Given the description of an element on the screen output the (x, y) to click on. 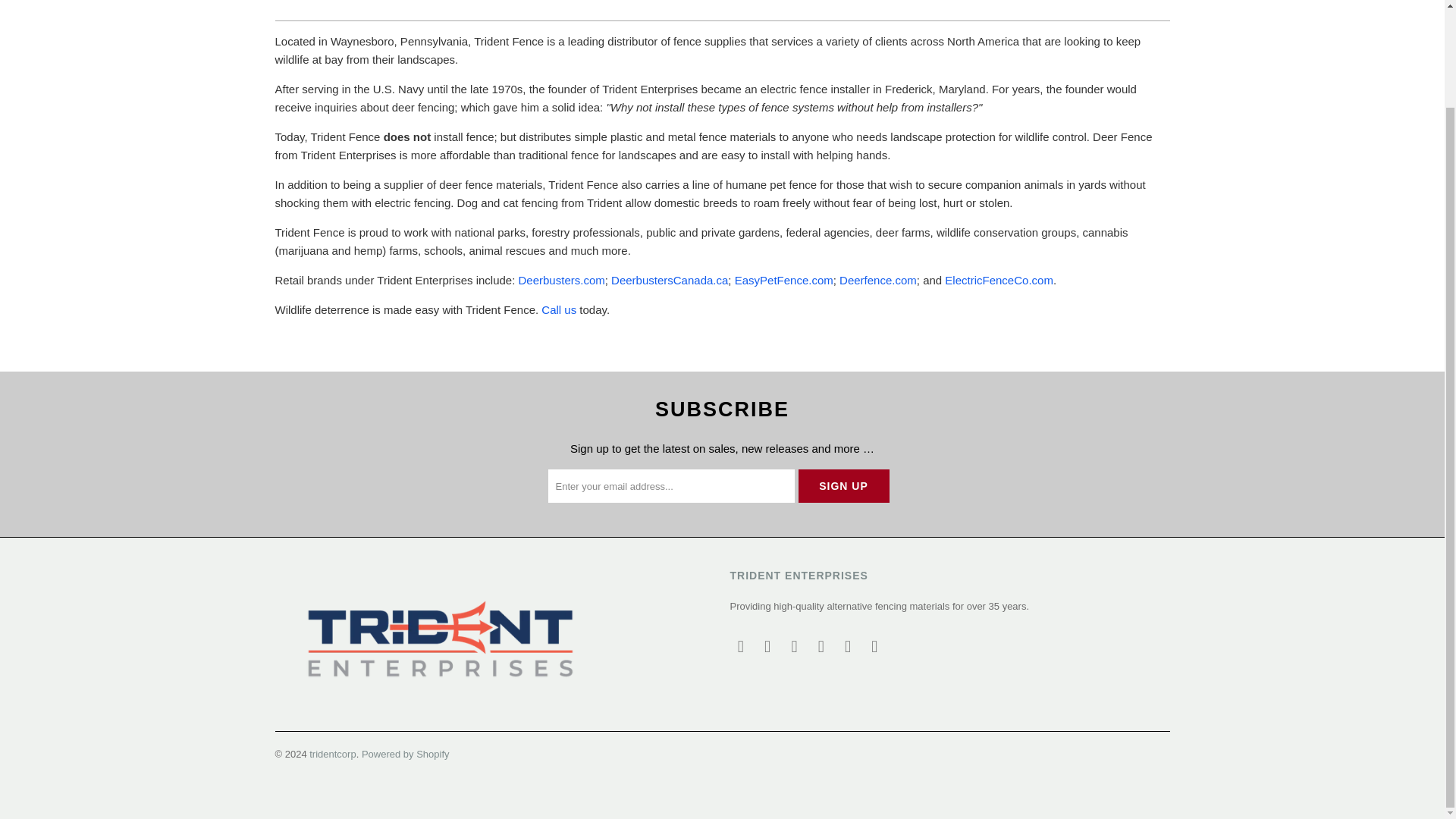
Contact TridentCorp.com (558, 309)
tridentcorp on LinkedIn (848, 647)
Sign Up (842, 485)
EasyPetFence.com (783, 279)
Deerbusters Canada (669, 279)
Deerbusters Deer Fence (561, 279)
Electric Fence Company (998, 279)
tridentcorp on Instagram (820, 647)
tridentcorp on Twitter (740, 647)
tridentcorp on Facebook (767, 647)
